Given the description of an element on the screen output the (x, y) to click on. 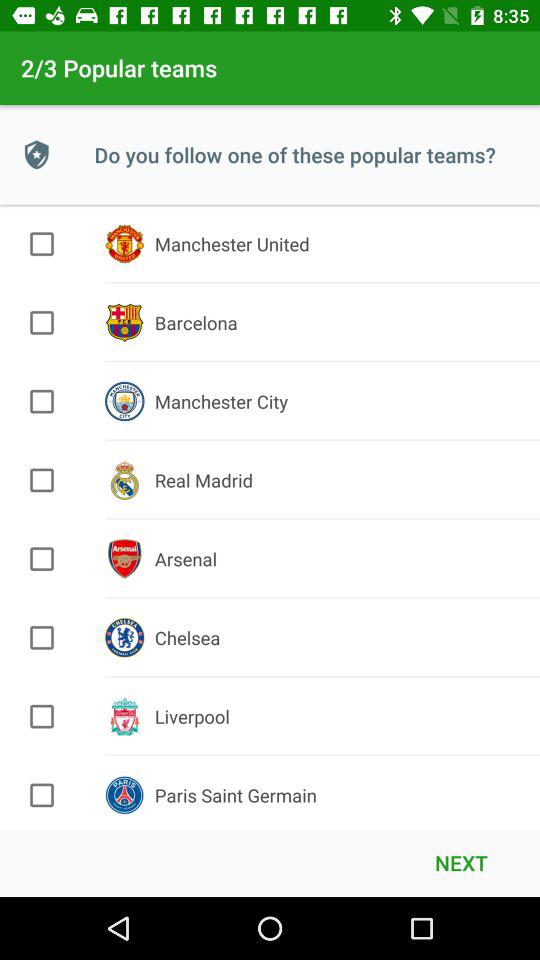
select this team (42, 795)
